Given the description of an element on the screen output the (x, y) to click on. 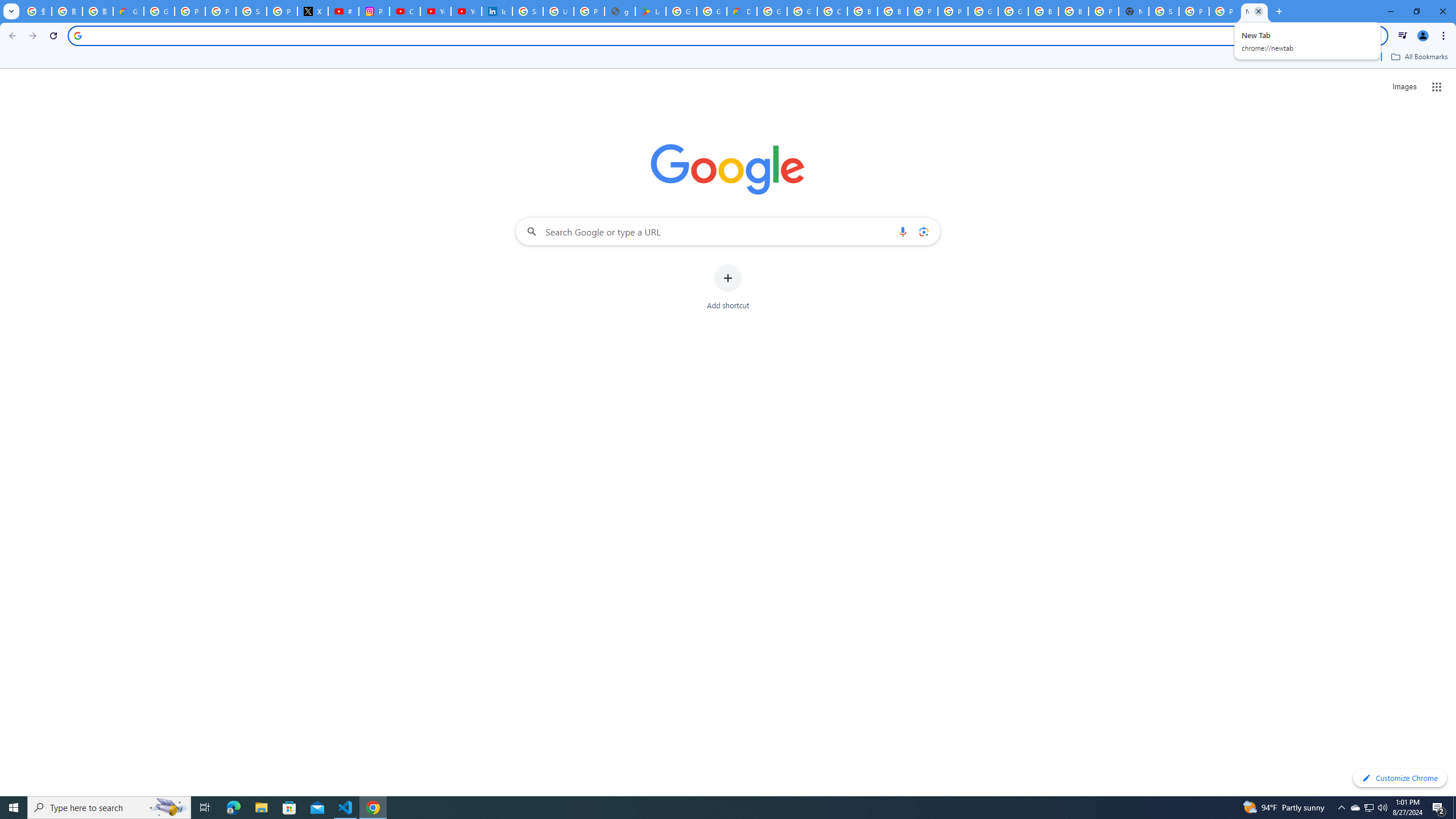
New Tab (1254, 11)
YouTube Culture & Trends - YouTube Top 10, 2021 (465, 11)
Search Google or type a URL (727, 230)
